Given the description of an element on the screen output the (x, y) to click on. 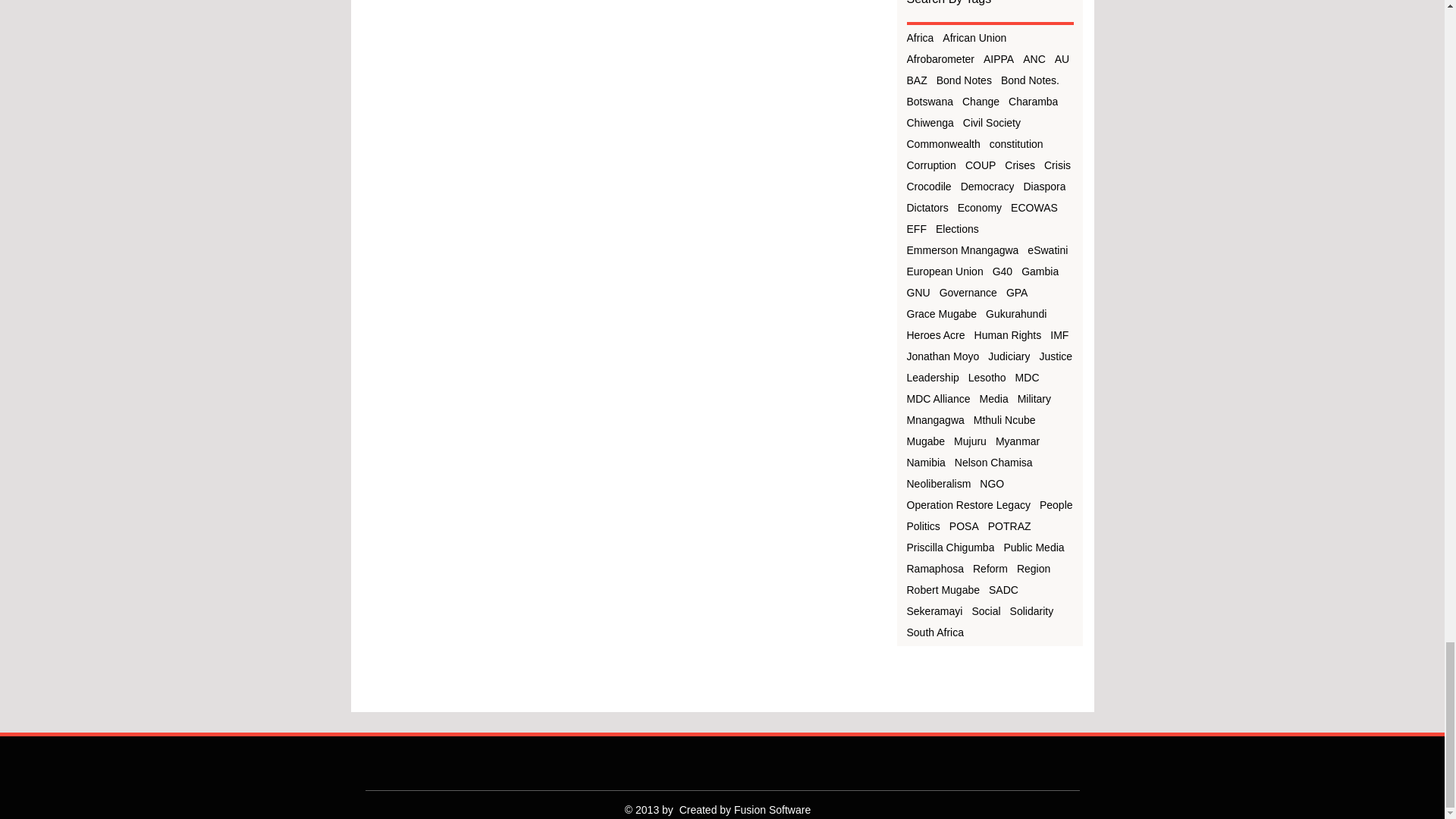
African Union (974, 37)
Dictators (928, 207)
Commonwealth (943, 143)
Democracy (987, 186)
Chiwenga (930, 122)
Bond Notes. (1030, 80)
Botswana (930, 101)
Africa (920, 37)
COUP (980, 164)
ECOWAS (1034, 207)
